Given the description of an element on the screen output the (x, y) to click on. 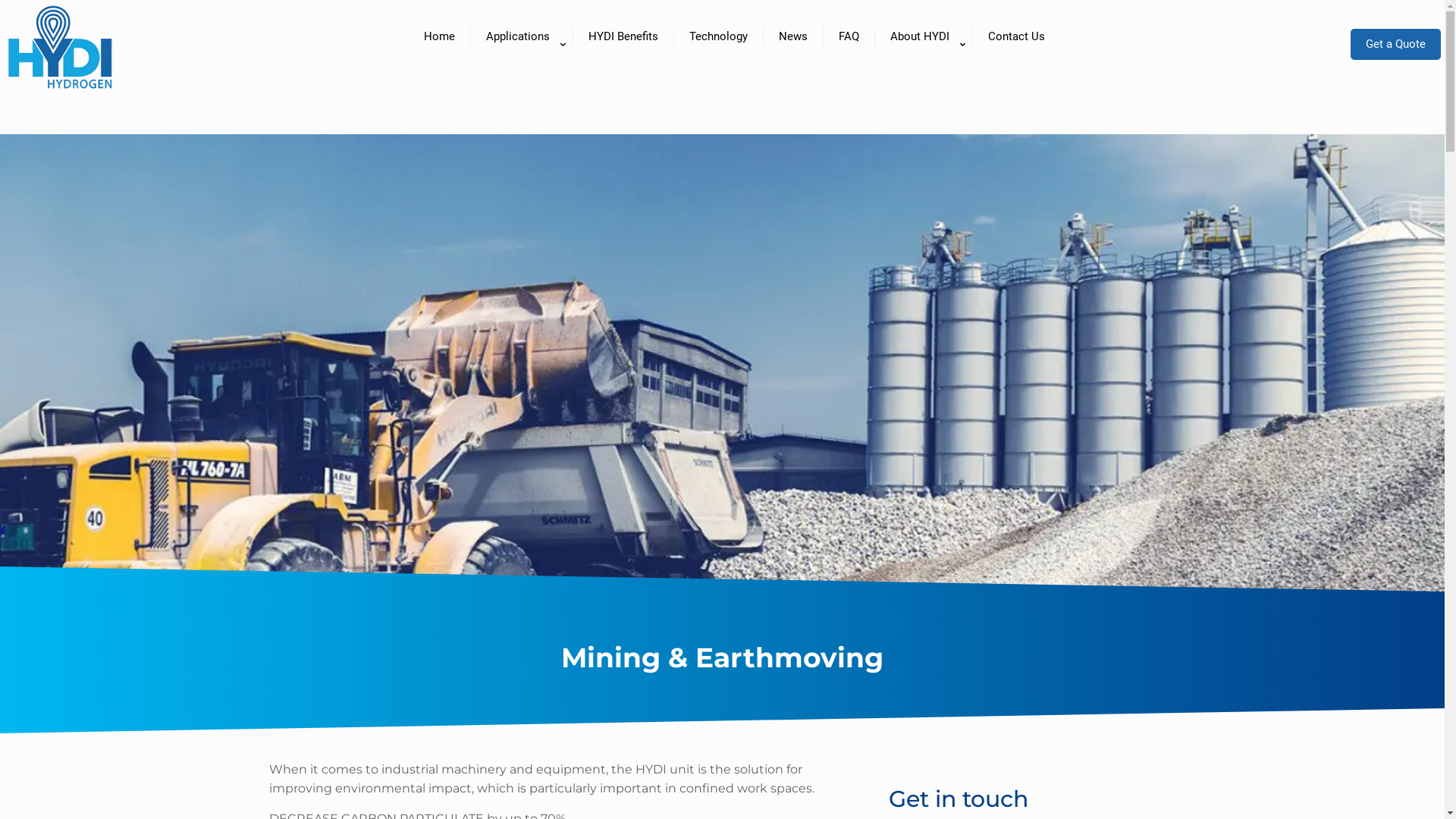
Technology Element type: text (717, 36)
HYDI Element type: hover (60, 101)
News Element type: text (792, 36)
Applications Element type: text (521, 36)
Home Element type: text (438, 36)
Contact Us Element type: text (1015, 36)
Get a Quote Element type: text (1395, 43)
HYDI Benefits Element type: text (623, 36)
About HYDI Element type: text (923, 36)
FAQ Element type: text (849, 36)
